Given the description of an element on the screen output the (x, y) to click on. 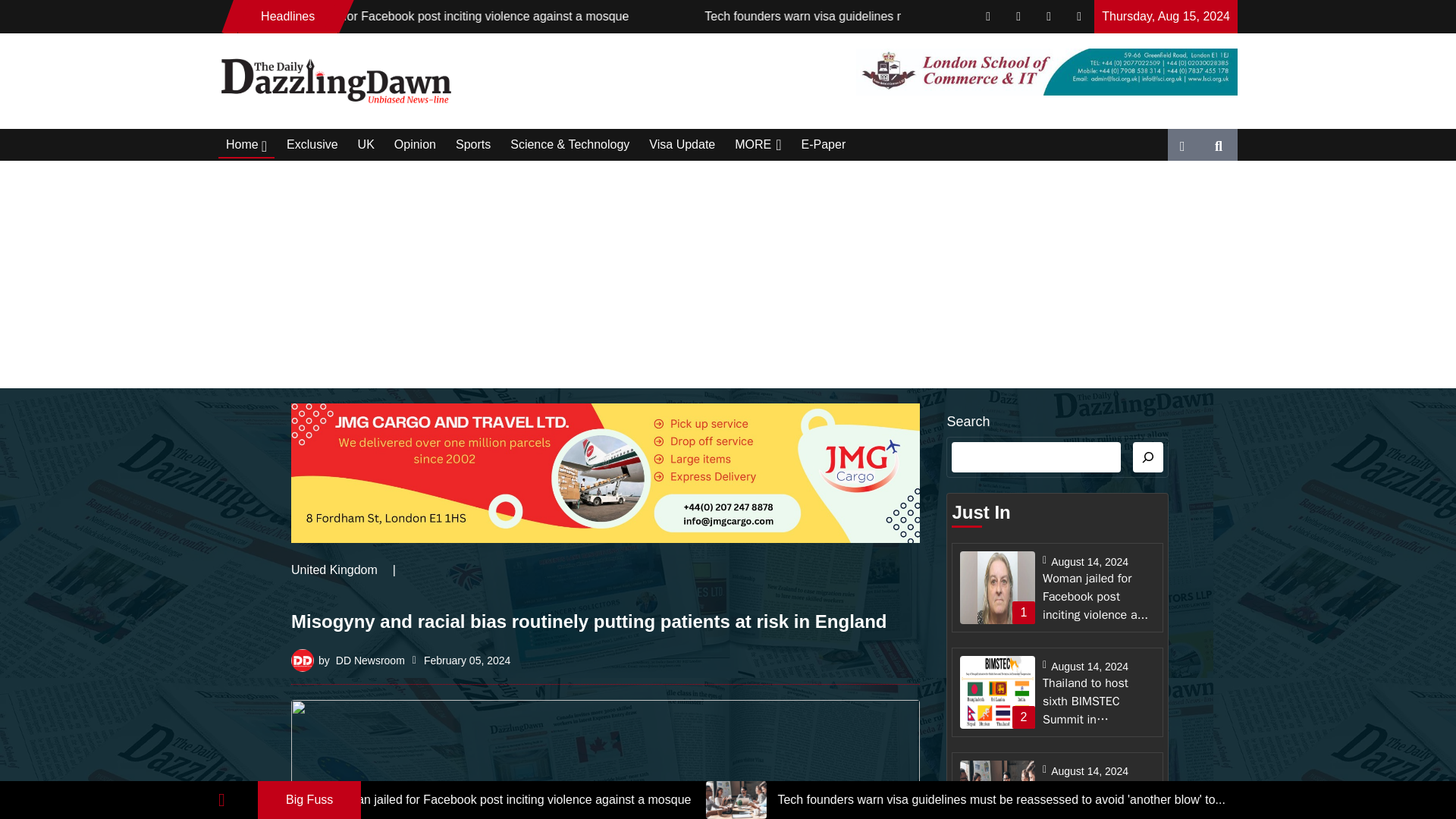
UK (366, 144)
Headlines (287, 16)
Home (246, 144)
Opinion (414, 144)
Exclusive (311, 144)
